Given the description of an element on the screen output the (x, y) to click on. 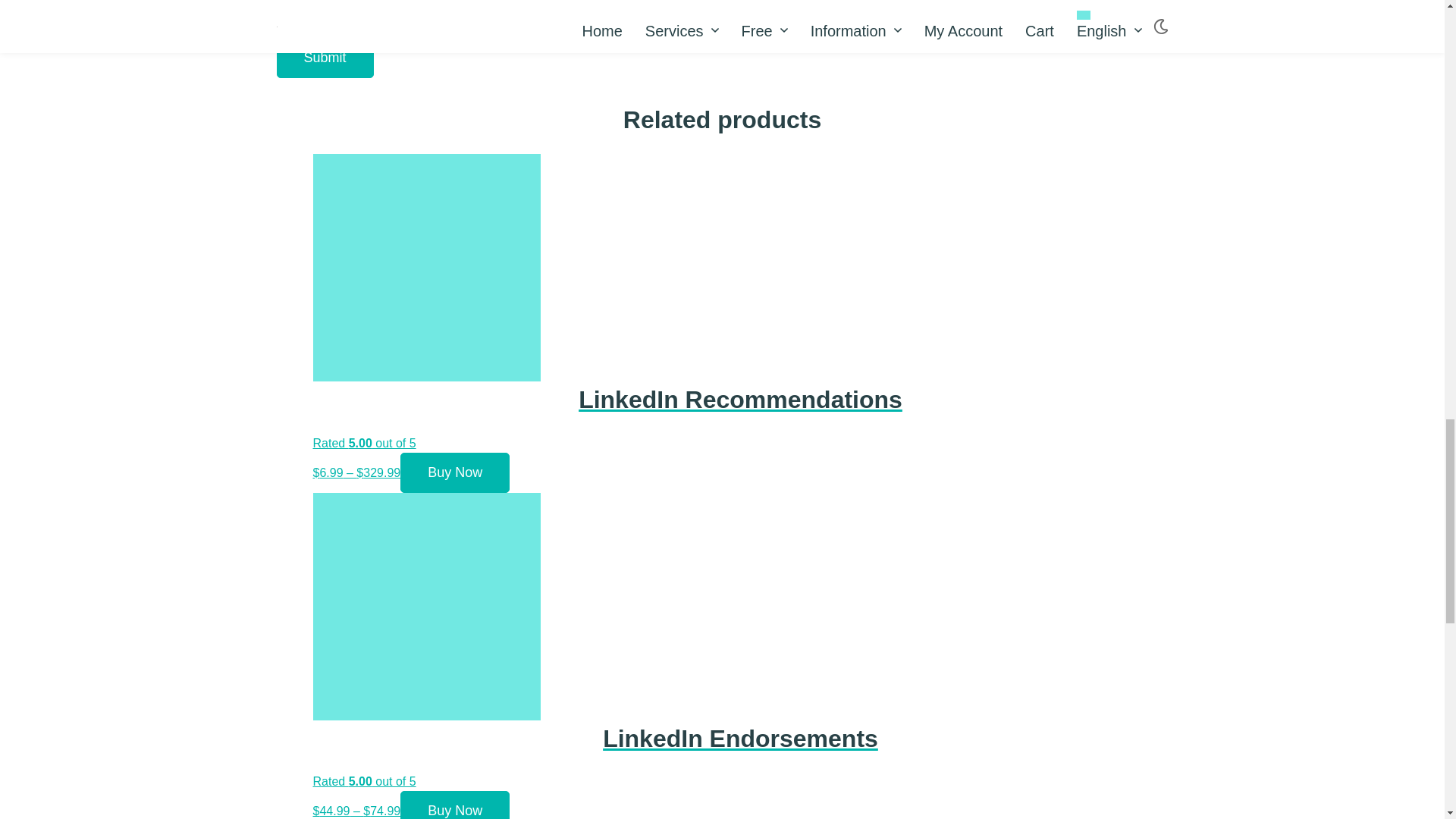
Submit (324, 57)
